Given the description of an element on the screen output the (x, y) to click on. 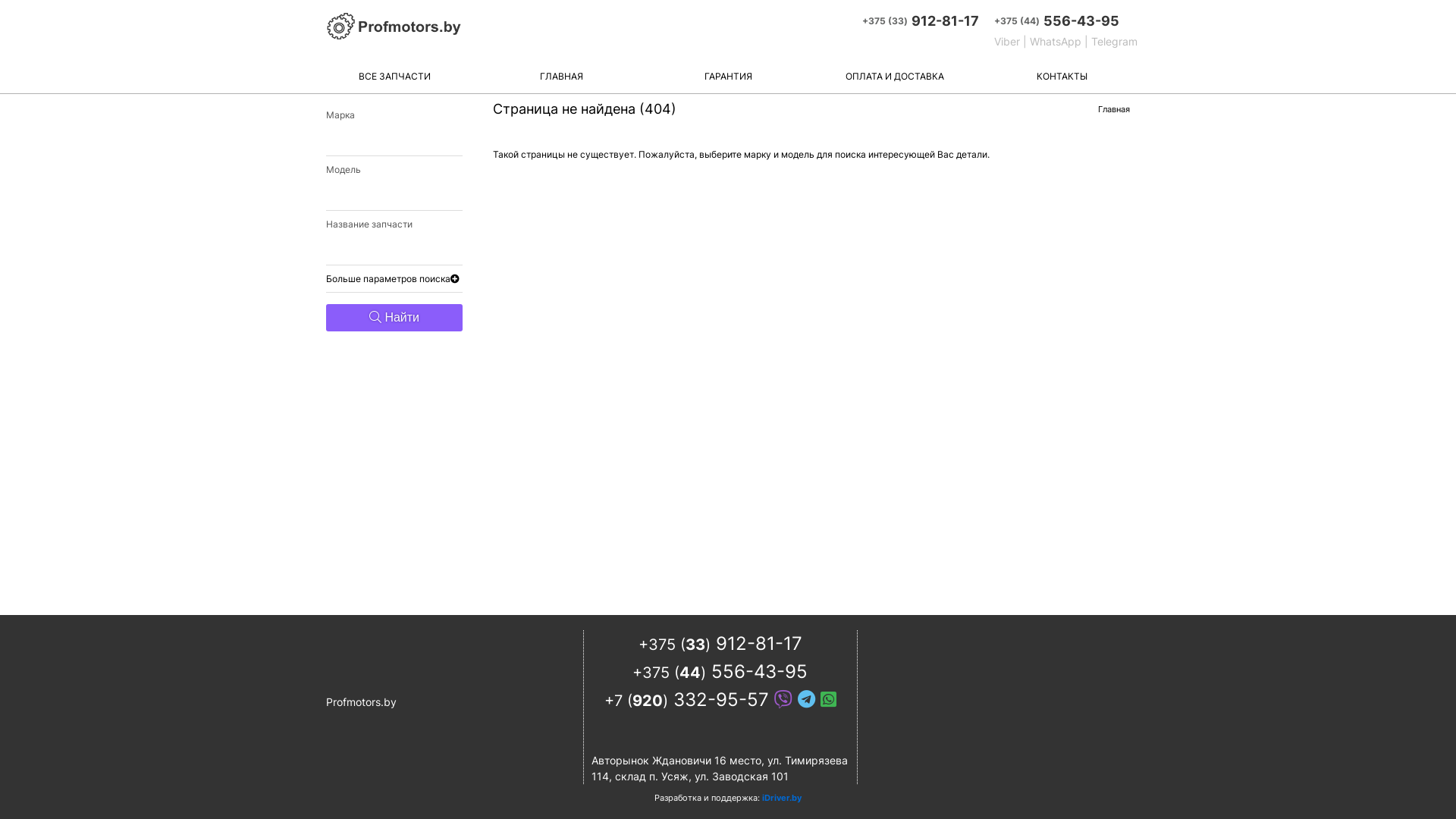
+375 (33)
912-81-17 Element type: text (920, 20)
+375 (33) 912-81-17 Element type: text (720, 643)
+7 (920) 332-95-57 Element type: text (720, 699)
+375 (44) 556-43-95 Element type: text (719, 671)
+375 (44)
556-43-95 Element type: text (1065, 20)
iDriver.by Element type: text (781, 797)
